Given the description of an element on the screen output the (x, y) to click on. 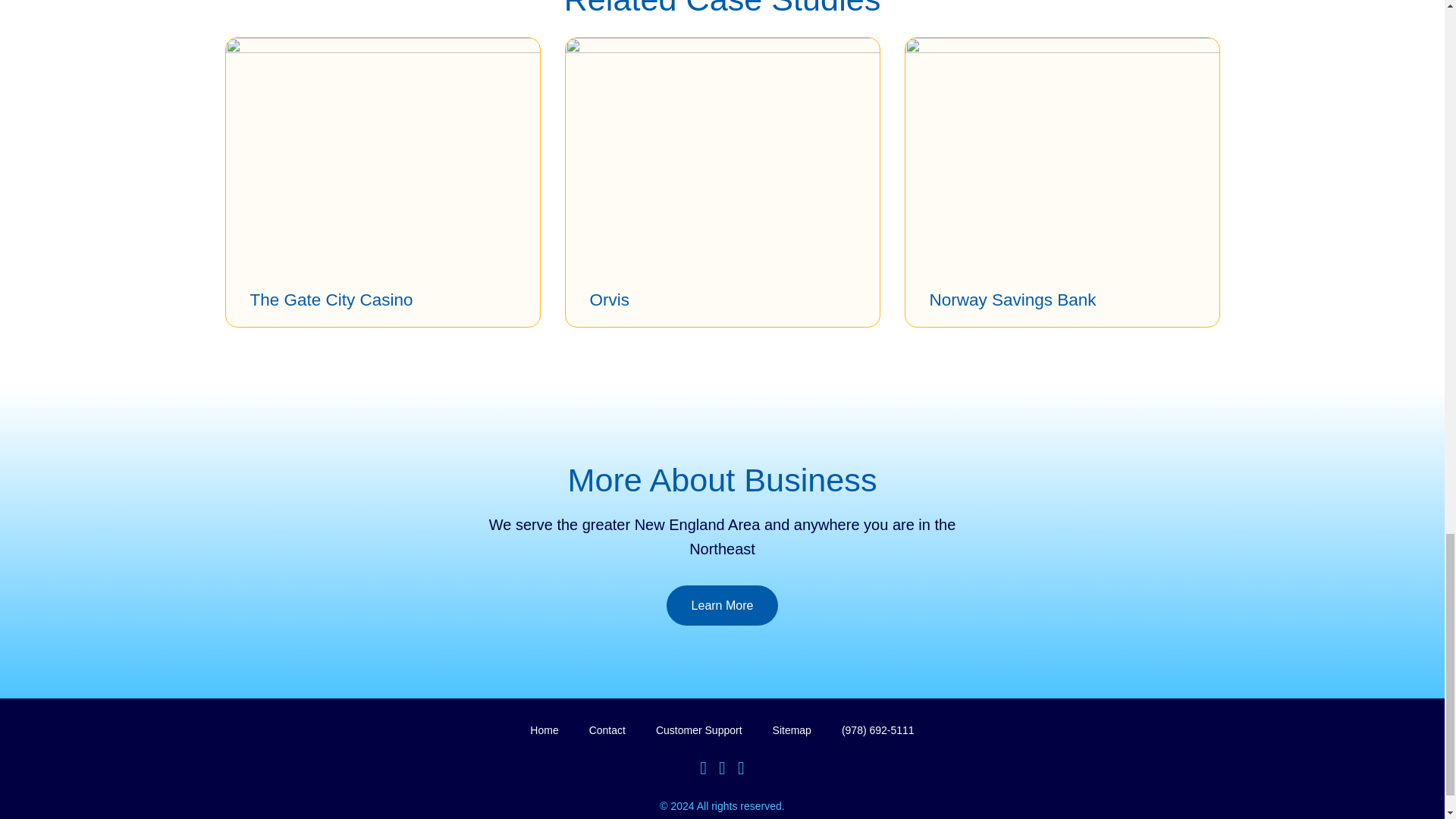
Home (543, 730)
Customer Support (699, 730)
Orvis (609, 299)
The Gate City Casino (331, 299)
Learn More (722, 605)
Sitemap (791, 730)
Norway Savings Bank (1013, 299)
Contact (607, 730)
